Given the description of an element on the screen output the (x, y) to click on. 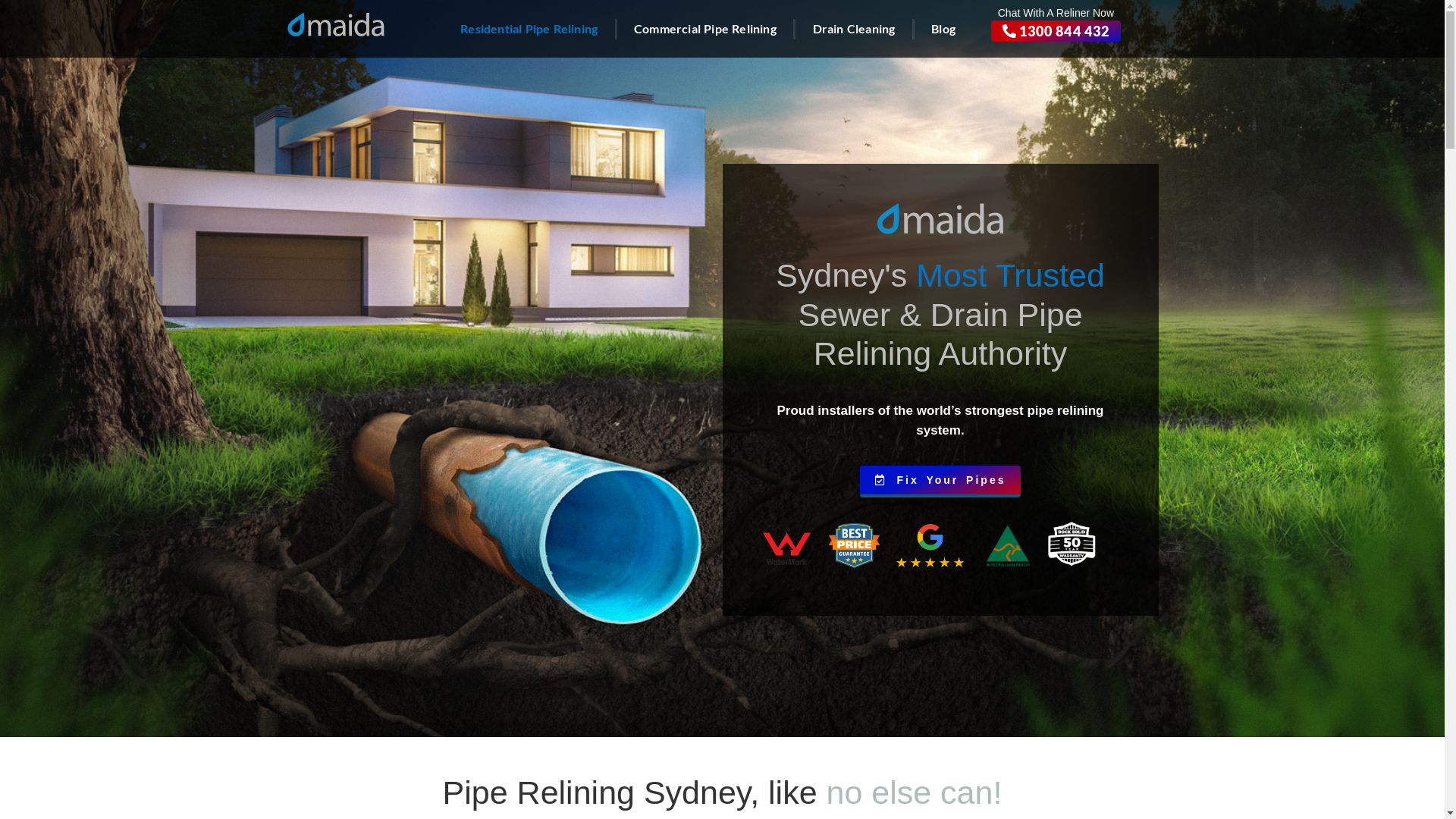
Residential Pipe Relining Element type: text (529, 28)
Fix Your Pipes Element type: text (940, 481)
Blog Element type: text (943, 28)
logo Element type: hover (335, 24)
Commercial Pipe Relining Element type: text (705, 28)
Drain Cleaning Element type: text (853, 28)
1300 844 432 Element type: text (1055, 30)
